Given the description of an element on the screen output the (x, y) to click on. 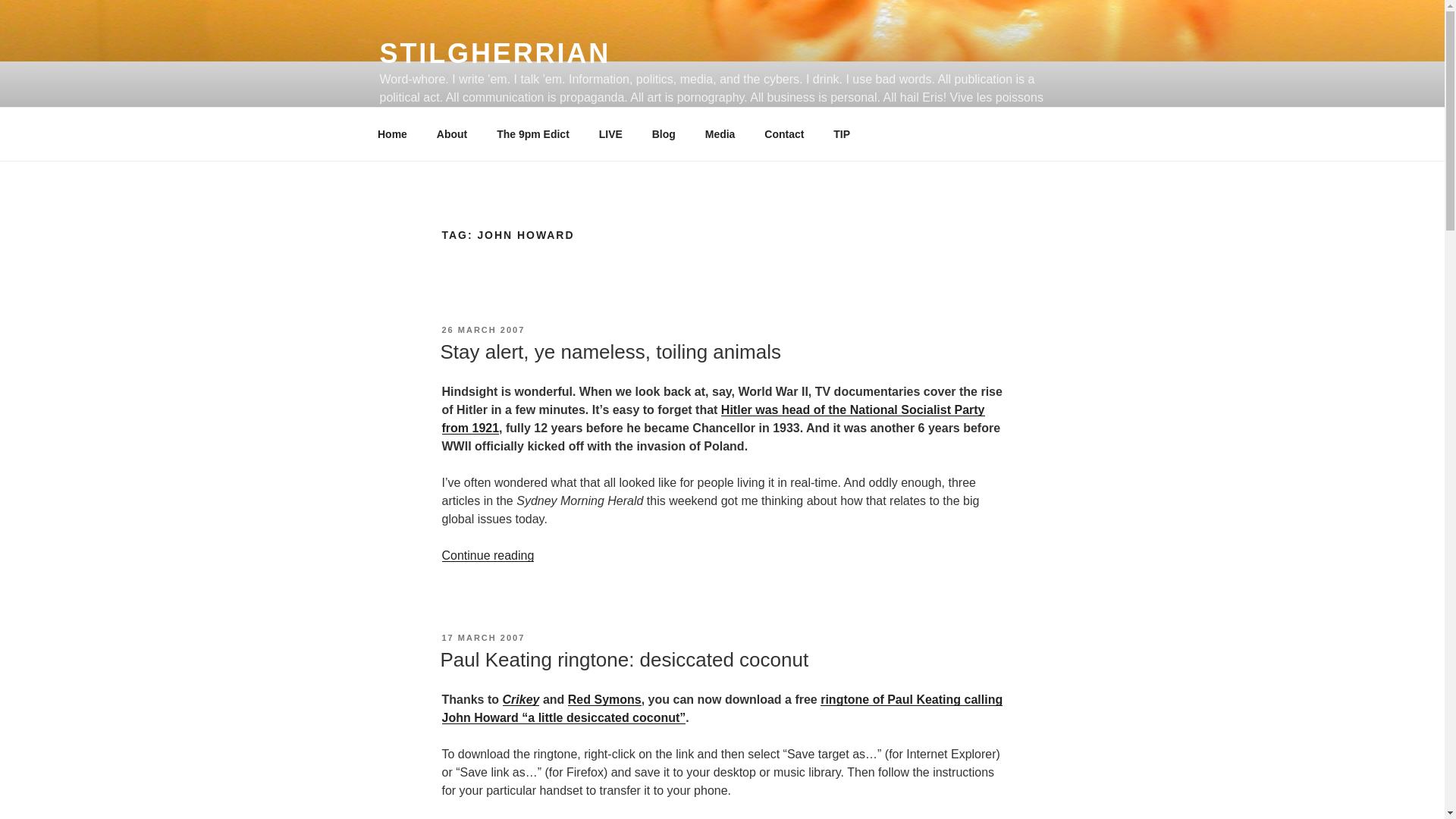
Media (719, 133)
Red Symons (604, 698)
LIVE (609, 133)
Paul Keating ringtone: desiccated coconut (623, 659)
About (451, 133)
About Stilgherrian (451, 133)
26 MARCH 2007 (482, 329)
Hitler was head of the National Socialist Party from 1921 (712, 418)
Media Output (719, 133)
Stay alert, ye nameless, toiling animals (609, 351)
